Given the description of an element on the screen output the (x, y) to click on. 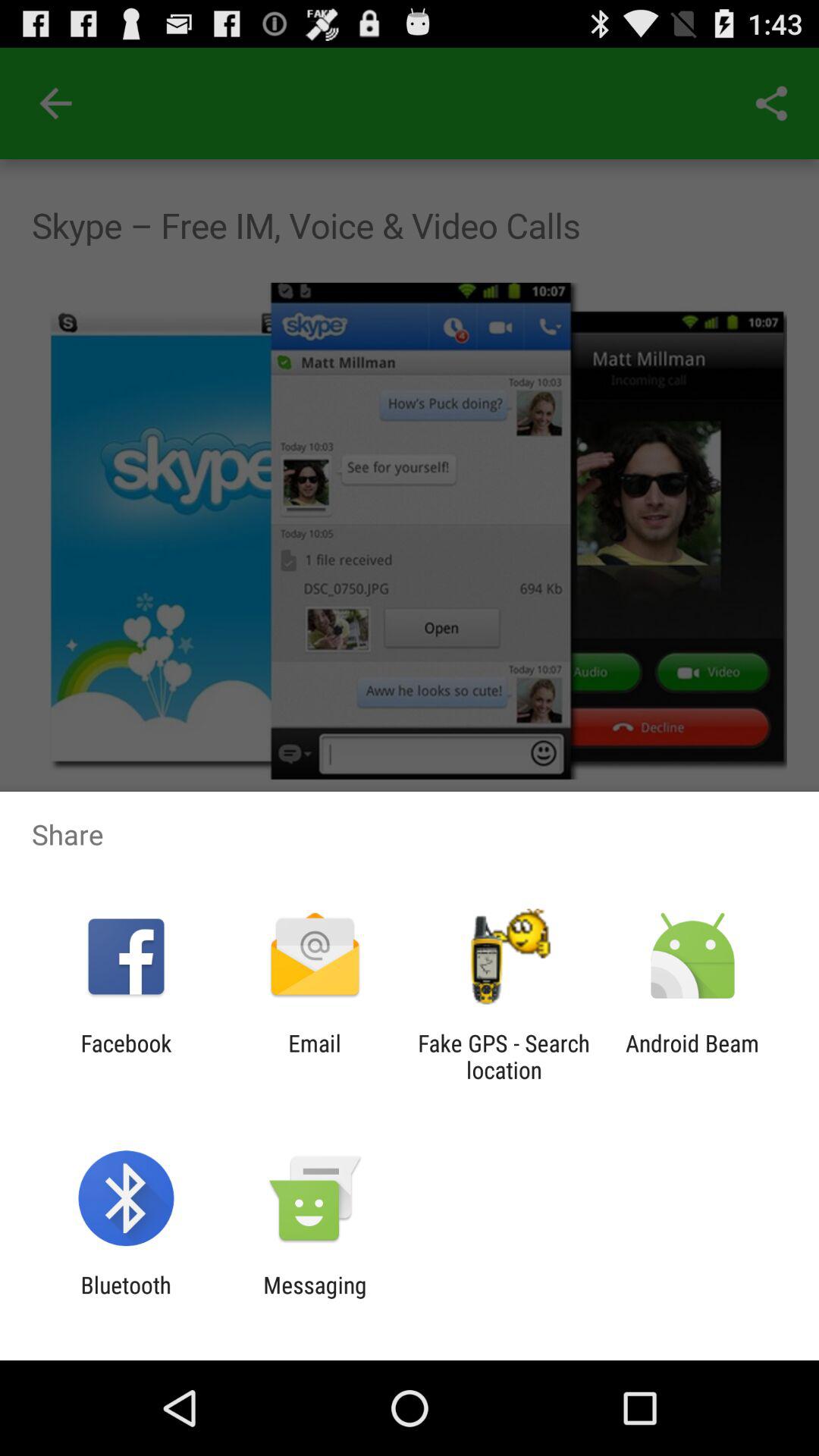
swipe to email item (314, 1056)
